Given the description of an element on the screen output the (x, y) to click on. 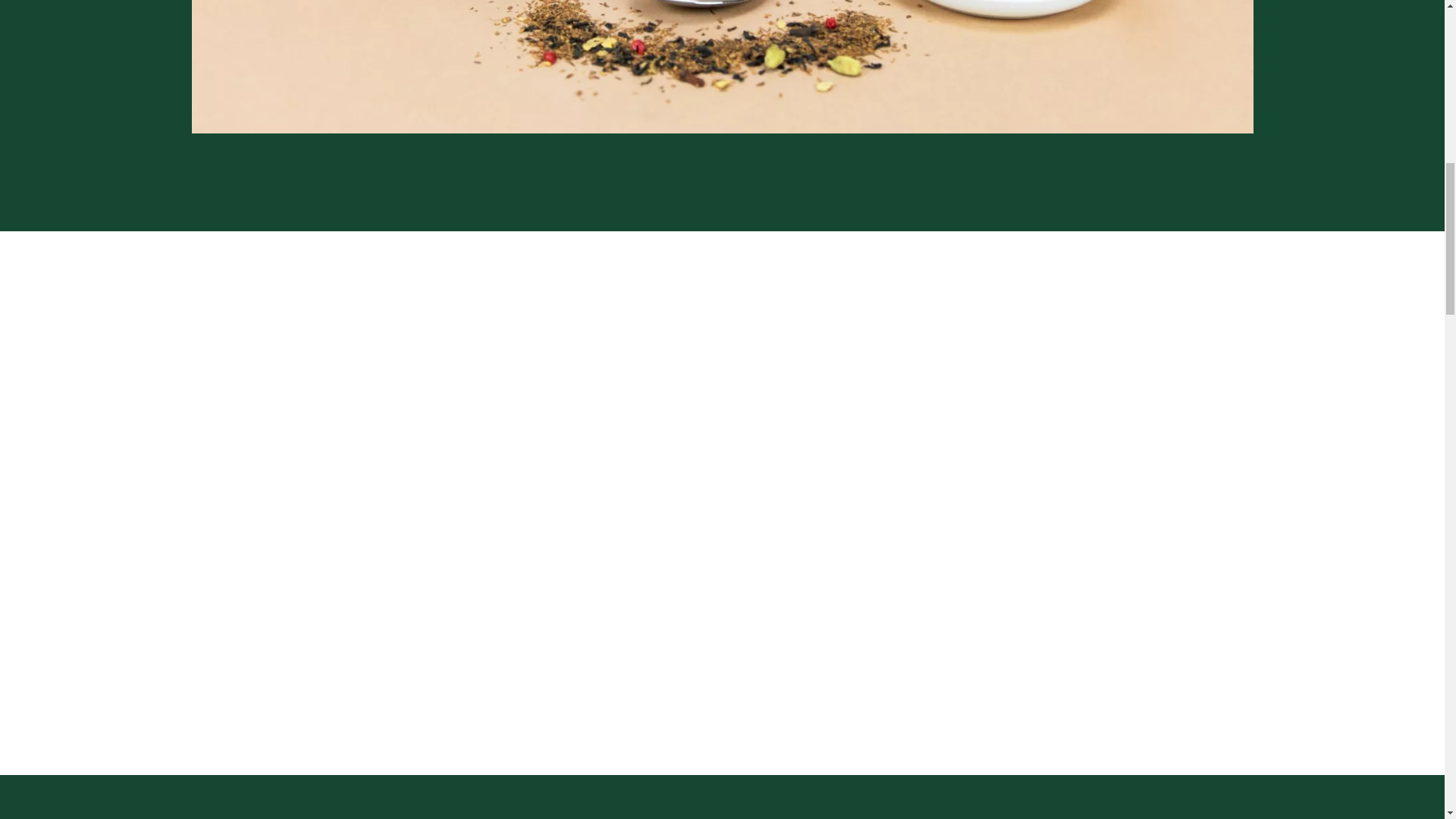
Book a consultation (370, 536)
Submit (824, 630)
